Given the description of an element on the screen output the (x, y) to click on. 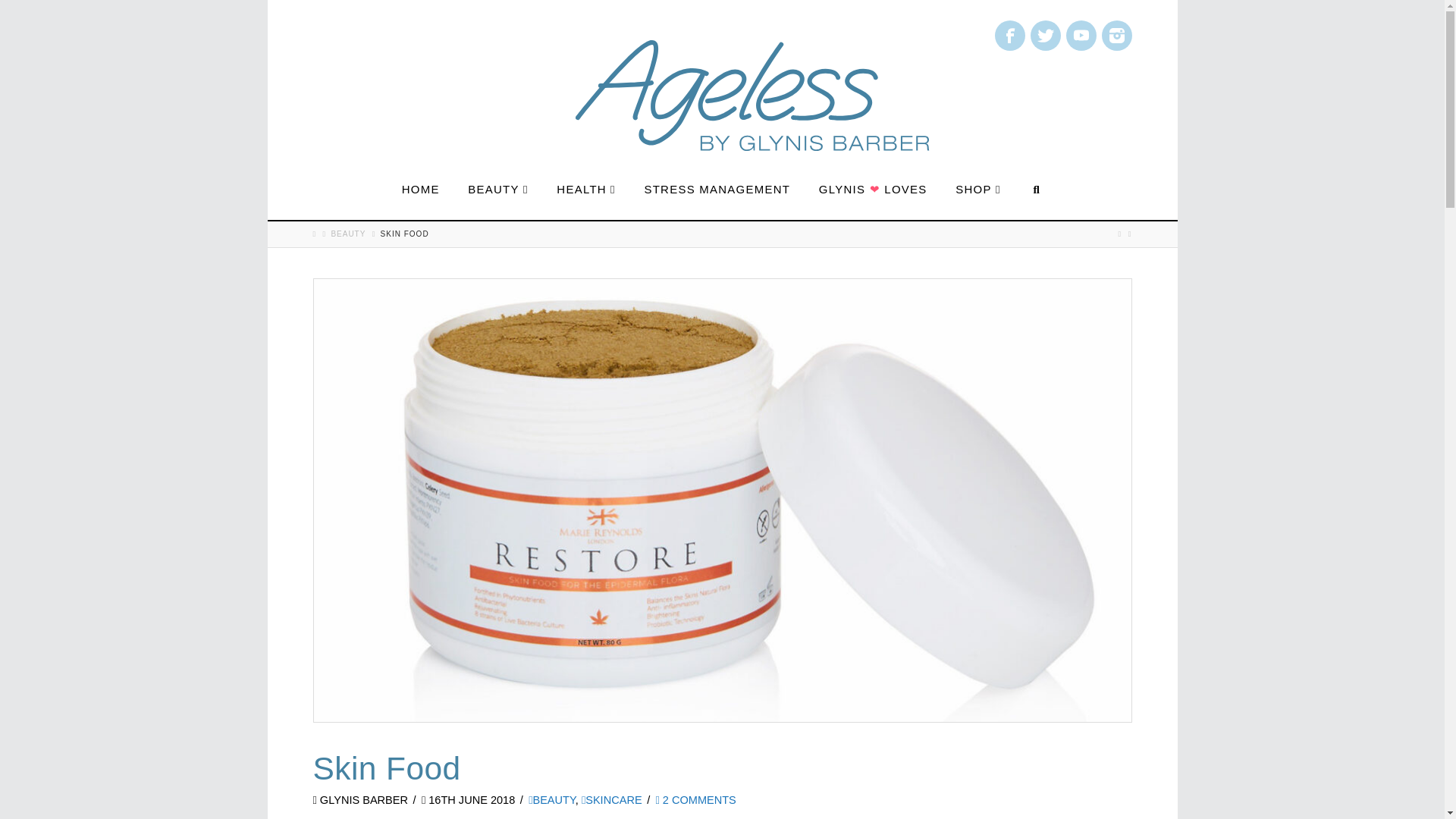
Instagram (1115, 35)
STRESS MANAGEMENT (715, 189)
Facebook (1009, 35)
HOME (419, 189)
HEALTH (584, 189)
SHOP (977, 189)
BEAUTY (496, 189)
YouTube (1080, 35)
